Given the description of an element on the screen output the (x, y) to click on. 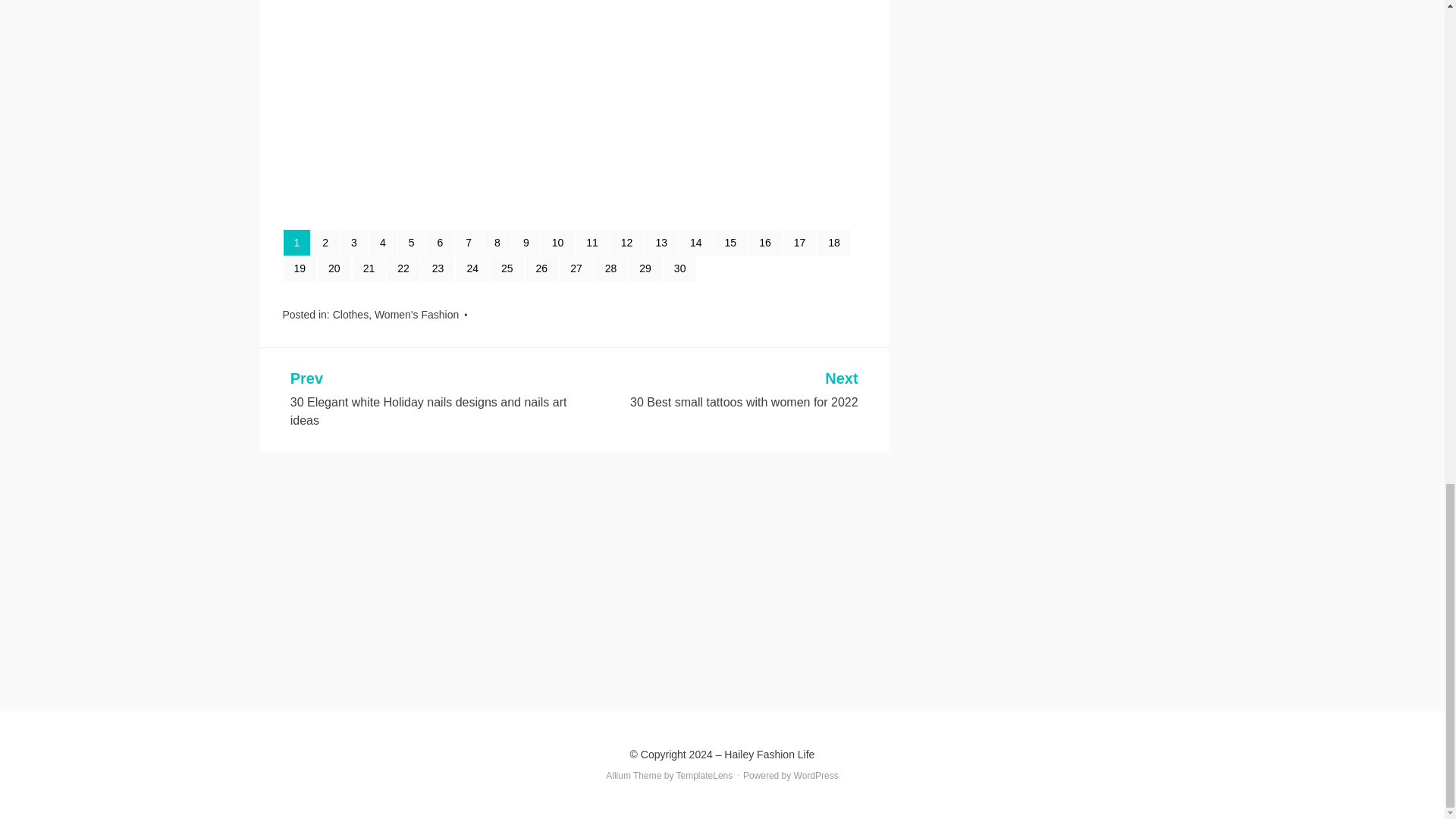
7 (467, 242)
30 Cute Teen fashion outfits for 2022 Hailey Fashion Life (561, 199)
11 (591, 242)
3 (354, 242)
14 (696, 242)
22 (403, 268)
5 (411, 242)
25 (507, 268)
23 (438, 268)
6 (439, 242)
Advertisement (574, 564)
19 (300, 268)
24 (472, 268)
17 (799, 242)
10 (558, 242)
